Given the description of an element on the screen output the (x, y) to click on. 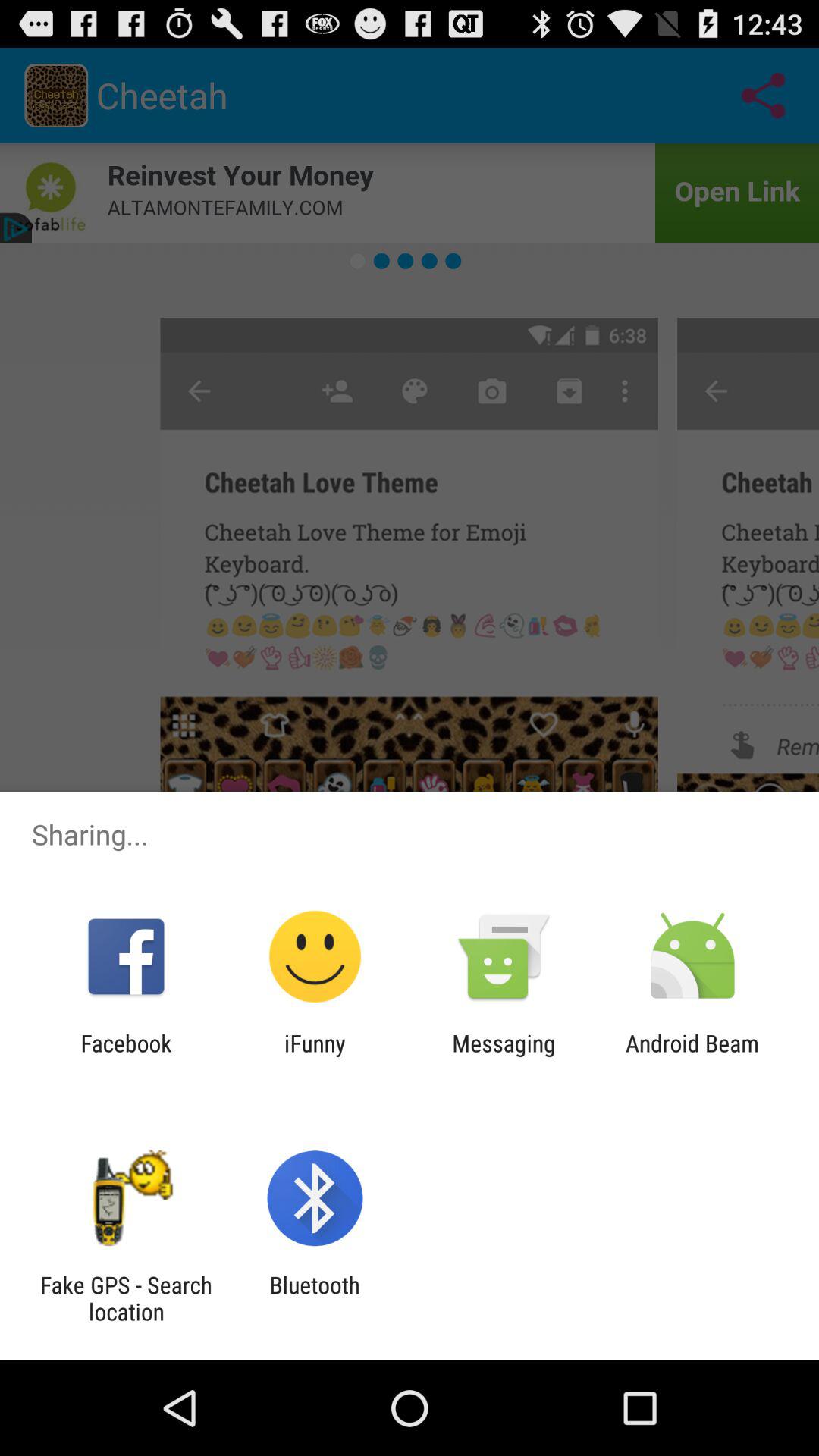
turn off the bluetooth icon (314, 1298)
